Given the description of an element on the screen output the (x, y) to click on. 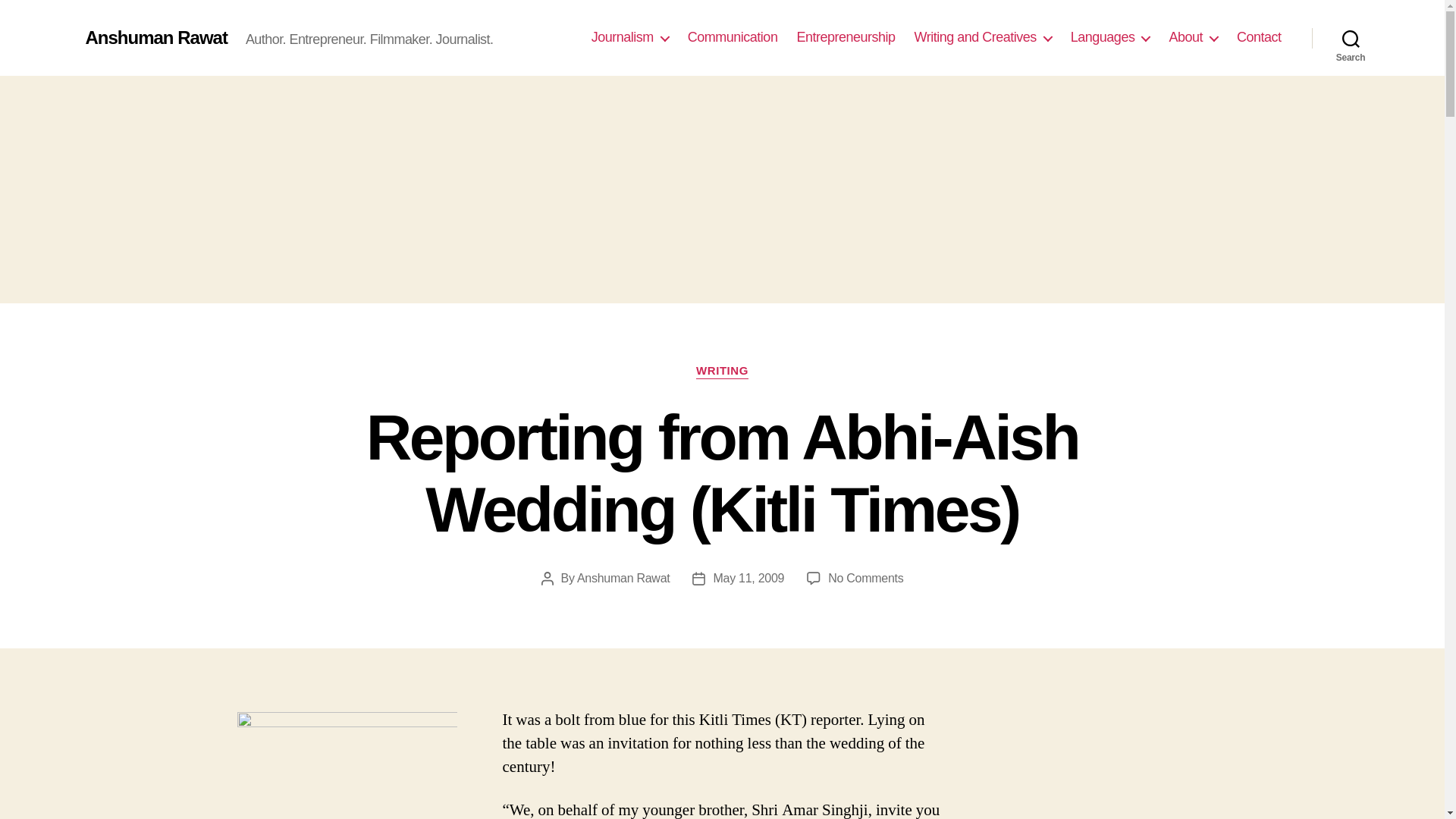
Languages (1110, 37)
Writing and Creatives (982, 37)
Anshuman Rawat (155, 37)
Search (1350, 37)
Contact (1258, 37)
About (1193, 37)
Communication (732, 37)
ash-abhi-wedding (347, 765)
Entrepreneurship (845, 37)
Journalism (629, 37)
